Given the description of an element on the screen output the (x, y) to click on. 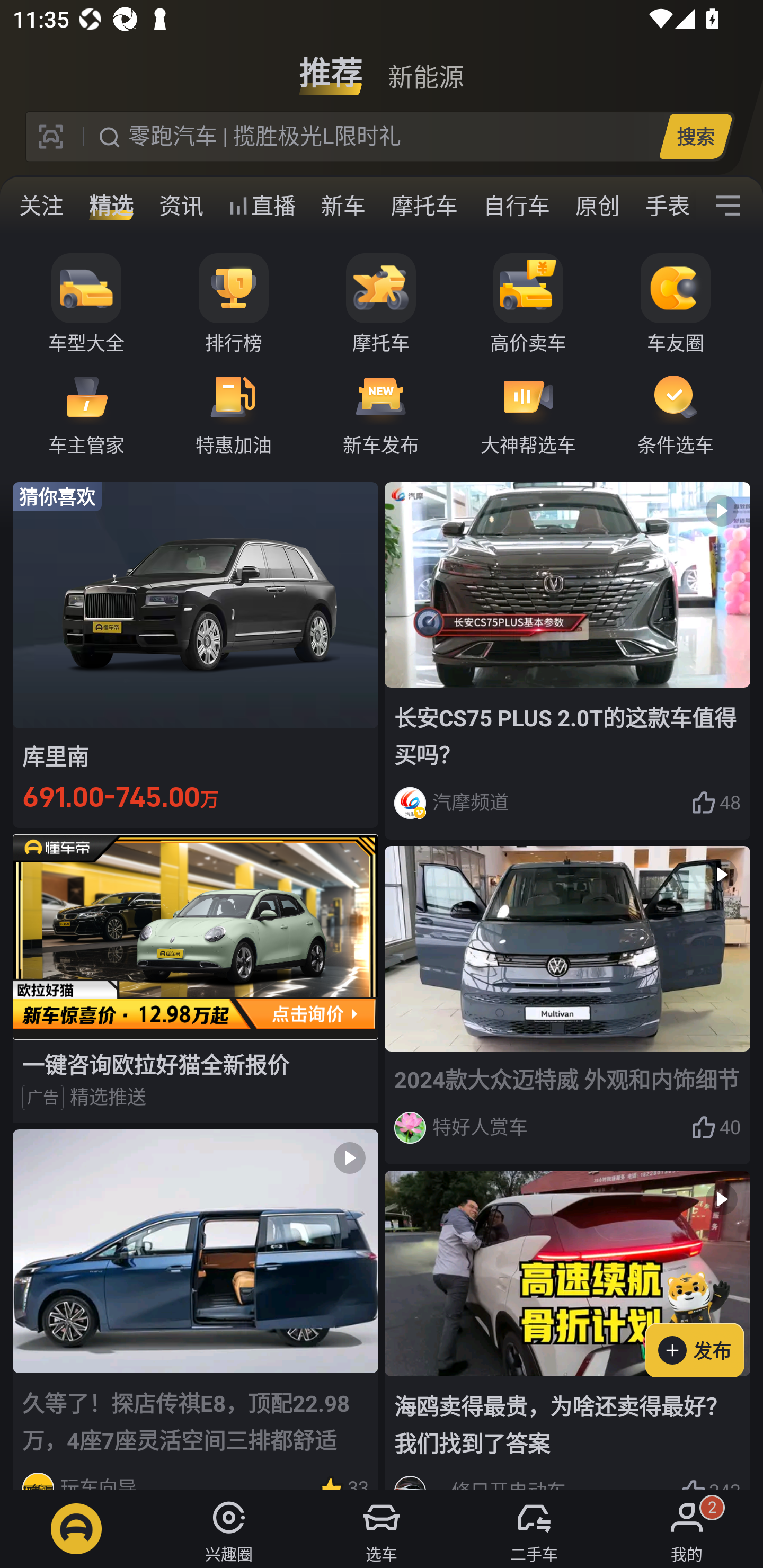
推荐 (330, 65)
新能源 (425, 65)
搜索 (695, 136)
关注 (41, 205)
精选 (111, 205)
资讯 (180, 205)
直播 (261, 205)
新车 (343, 205)
摩托车 (424, 205)
自行车 (516, 205)
原创 (597, 205)
手表 (663, 205)
 (727, 205)
车型大全 (86, 303)
排行榜 (233, 303)
摩托车 (380, 303)
高价卖车 (528, 303)
车友圈 (675, 303)
车主管家 (86, 412)
特惠加油 (233, 412)
新车发布 (380, 412)
大神帮选车 (528, 412)
条件选车 (675, 412)
猜你喜欢 库里南 691.00-745.00万 (195, 654)
 长安CS75 PLUS 2.0T的这款车值得买吗？ 汽摩频道 48 (567, 659)
48 (715, 802)
一键咨询欧拉好猫全新报价 广告 精选推送 (195, 978)
 2024款大众迈特威 外观和内饰细节 特好人赏车 40 (567, 1005)
40 (715, 1126)
 久等了！探店传祺E8，顶配22.98万，4座7座灵活空间三排都舒适 玩车向导 33 (195, 1308)
 海鸥卖得最贵，为啥还卖得最好？我们找到了答案 一修只开电动车 343 (567, 1330)
发布 (704, 1320)
 兴趣圈 (228, 1528)
 选车 (381, 1528)
 二手车 (533, 1528)
 我的 (686, 1528)
